Given the description of an element on the screen output the (x, y) to click on. 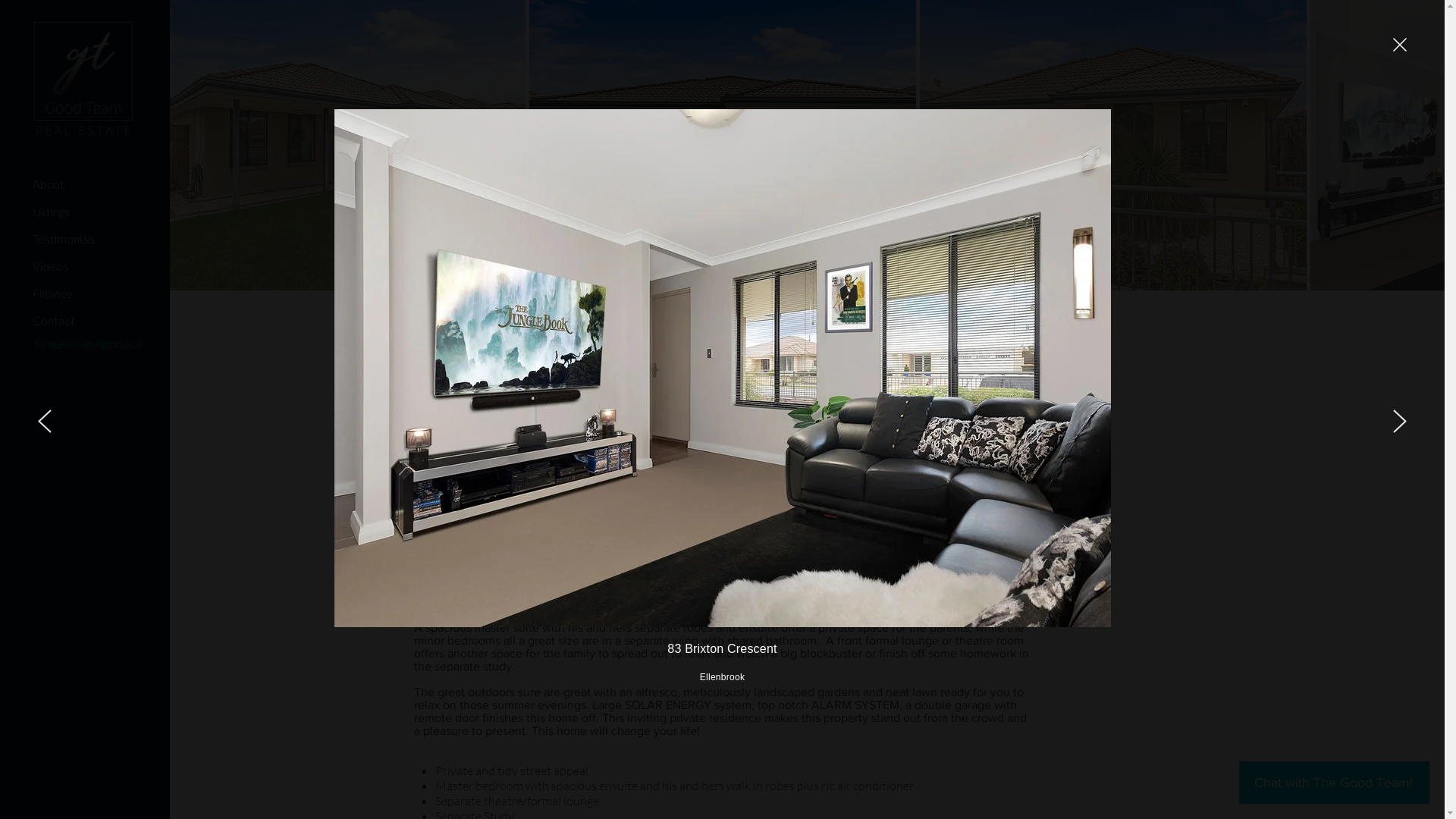
Videos Element type: text (77, 266)
Testimonials Element type: text (77, 239)
Contact Element type: text (77, 321)
Finance Element type: text (77, 293)
Request an Appraisal Element type: text (87, 344)
About Element type: text (77, 184)
